Given the description of an element on the screen output the (x, y) to click on. 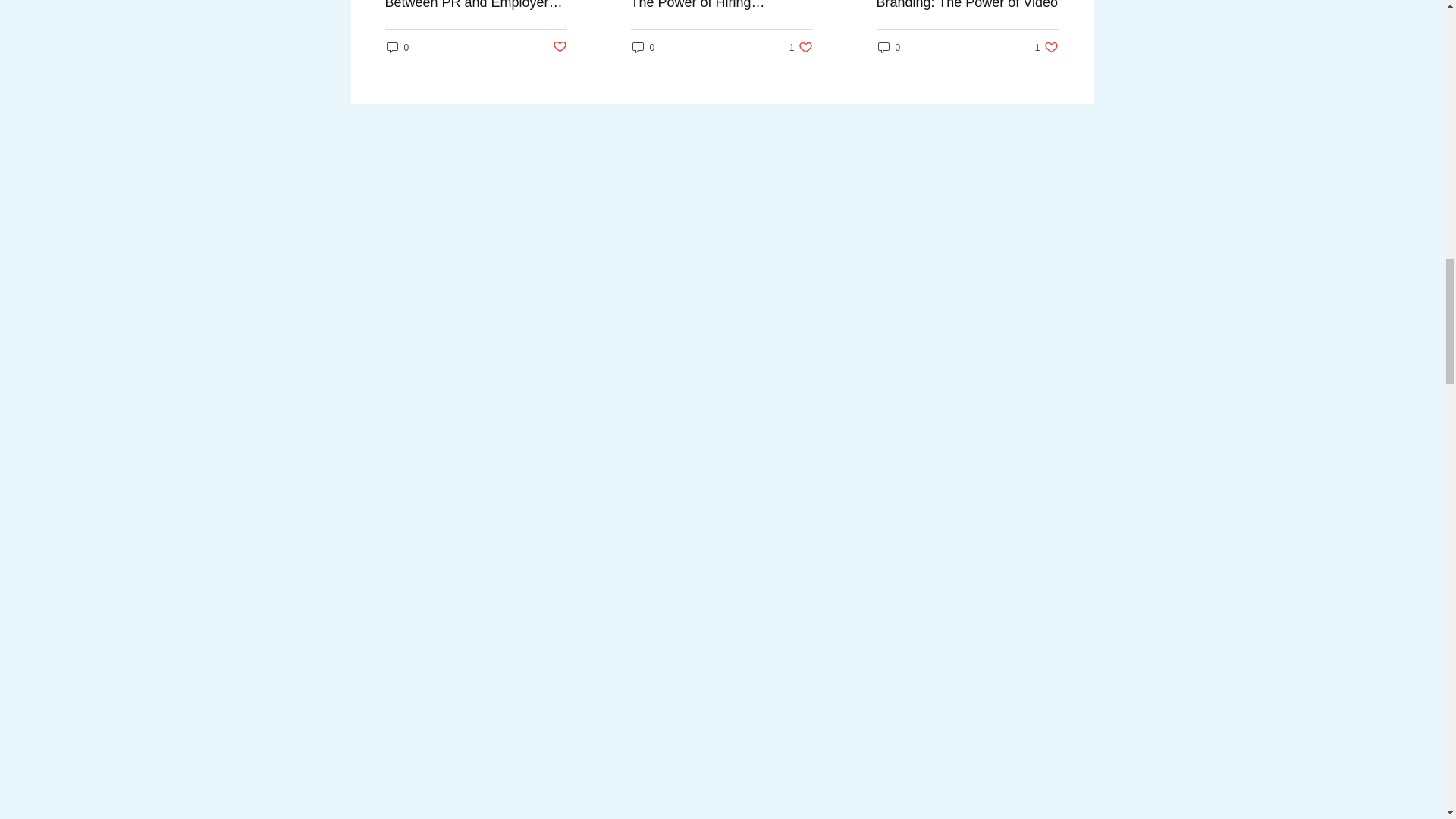
Post not marked as liked (558, 47)
0 (397, 47)
Revolutionizing Employer Branding: The Power of Video (800, 47)
0 (1046, 47)
0 (967, 5)
